Given the description of an element on the screen output the (x, y) to click on. 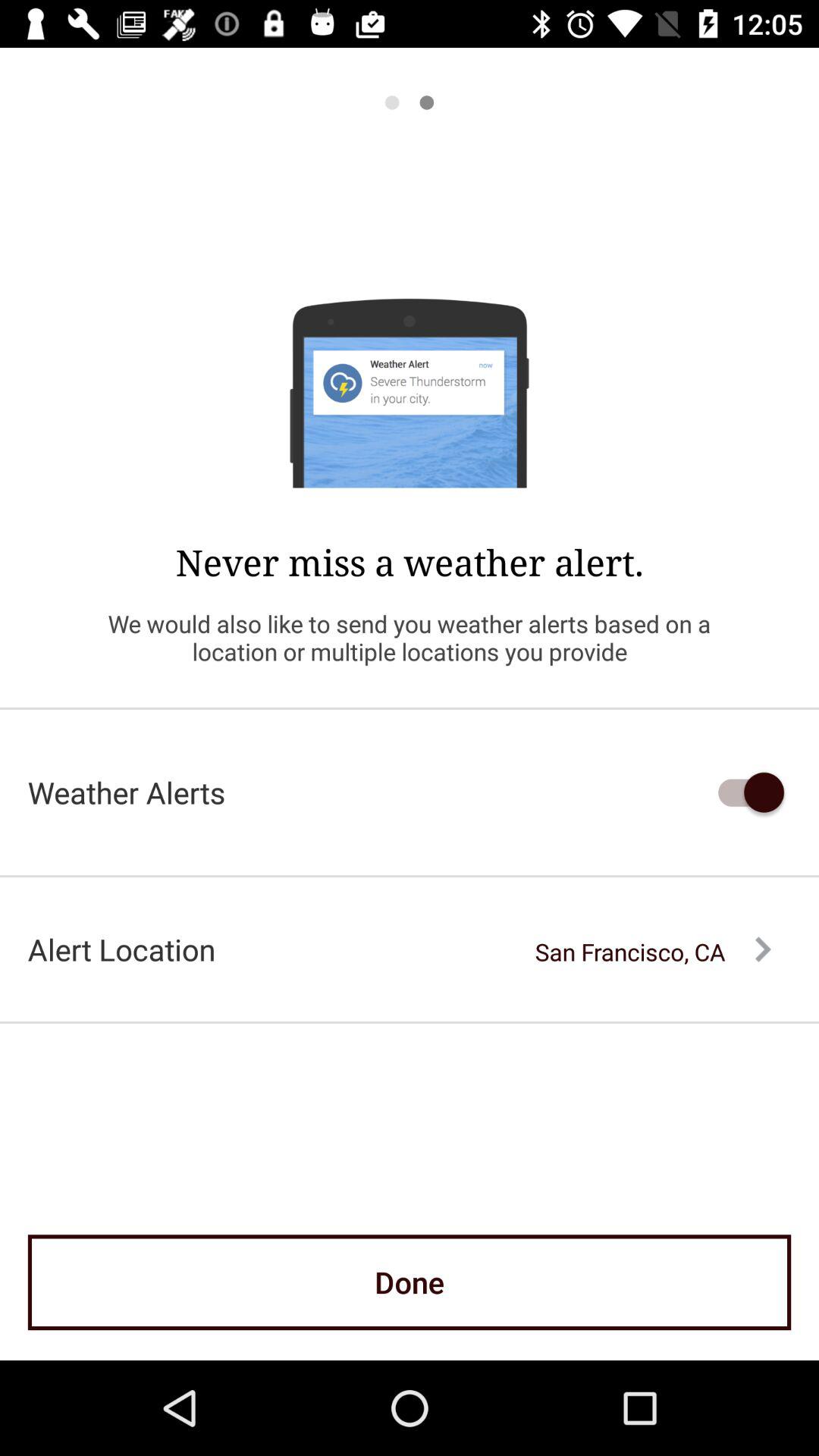
turn off done (409, 1282)
